Given the description of an element on the screen output the (x, y) to click on. 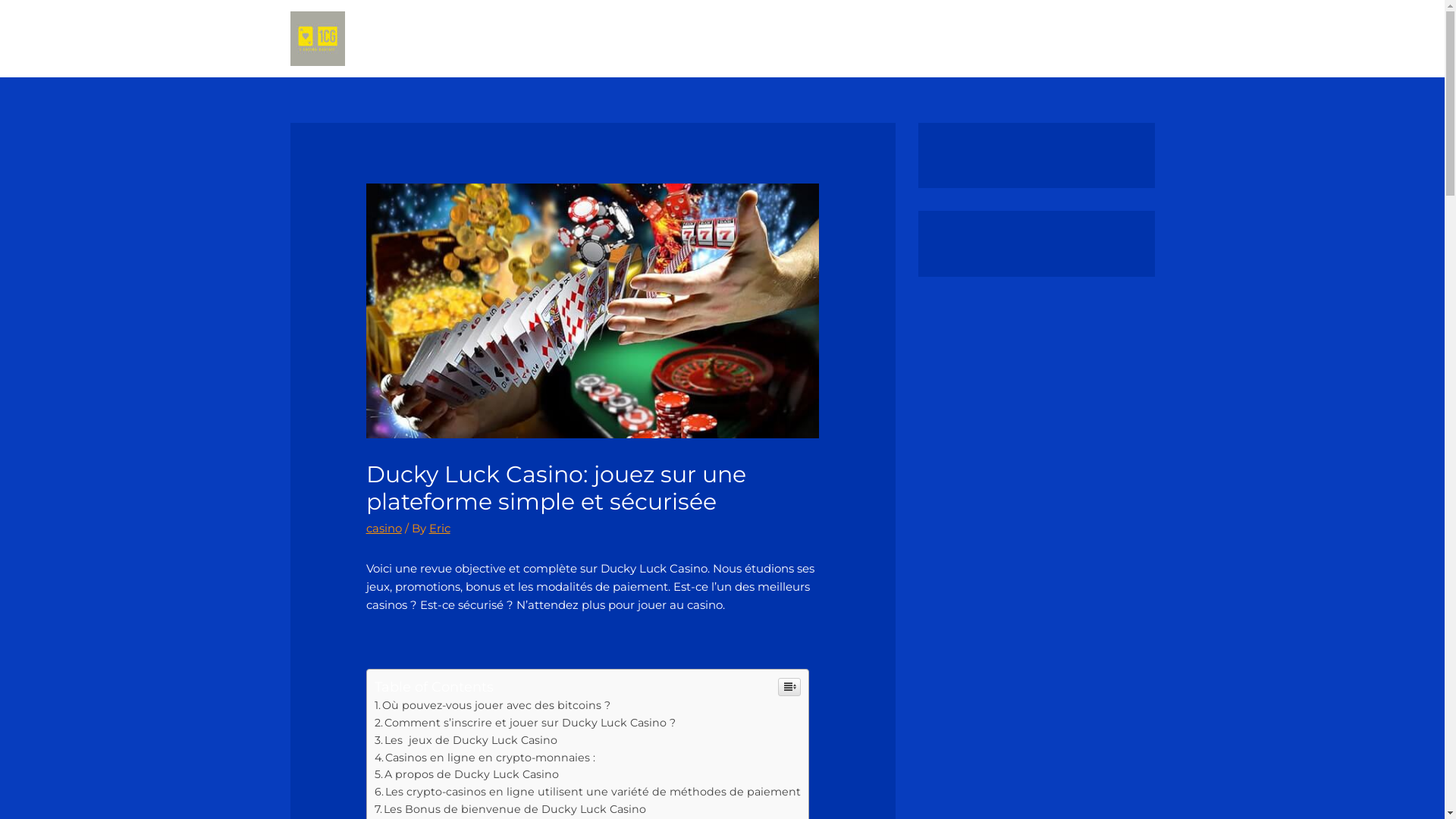
A propos de Ducky Luck Casino Element type: text (466, 774)
Casinos en ligne en crypto-monnaies :  Element type: text (486, 757)
Les Bonus de bienvenue de Ducky Luck Casino Element type: text (510, 808)
Les  jeux de Ducky Luck Casino Element type: text (466, 739)
Eric Element type: text (439, 527)
casino Element type: text (383, 527)
